Given the description of an element on the screen output the (x, y) to click on. 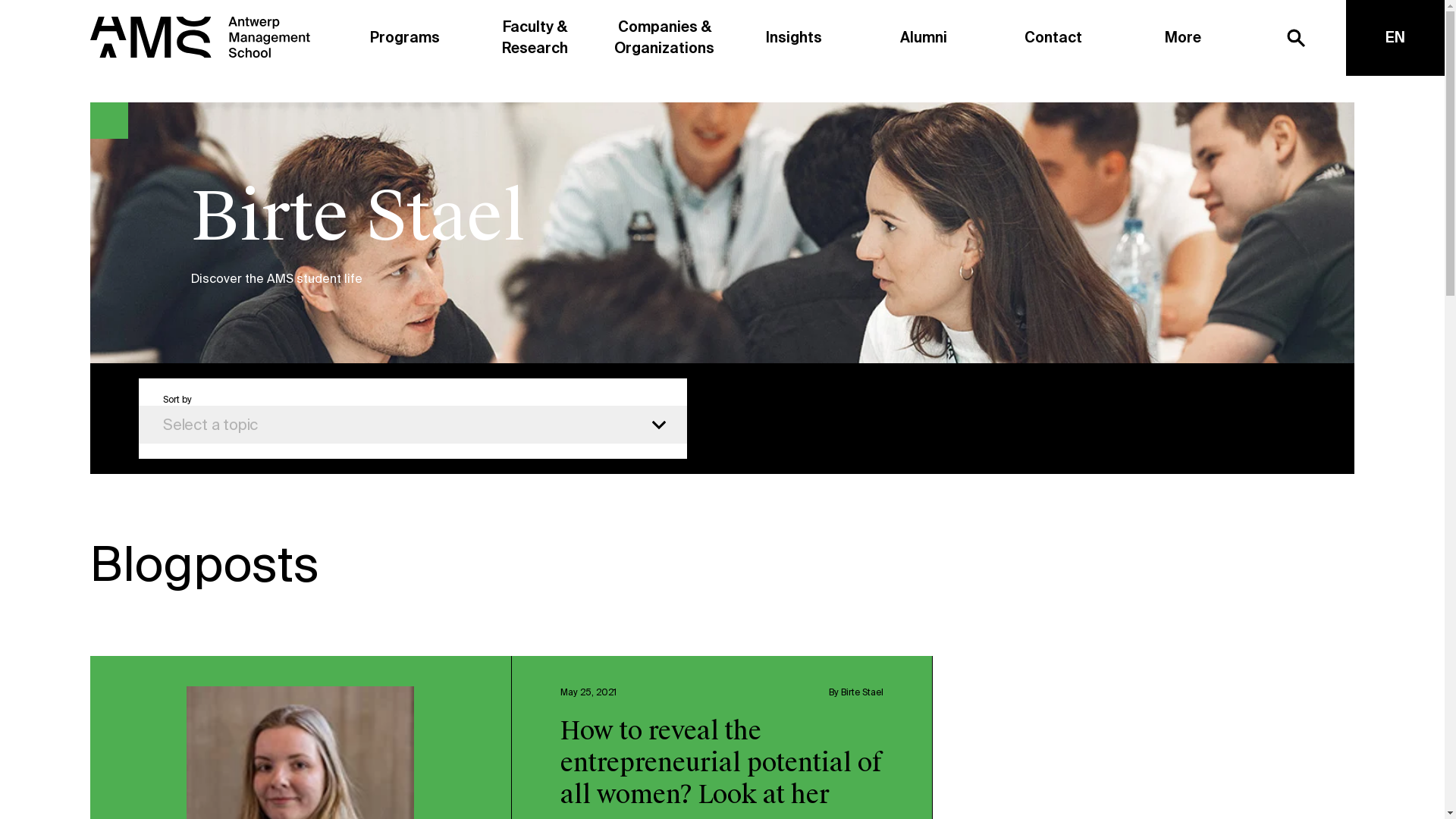
Insights Element type: text (794, 37)
More Element type: text (1182, 37)
Contact Element type: text (1052, 37)
Faculty & Research Element type: text (534, 37)
Birte Stael Element type: text (861, 692)
Alumni Element type: text (923, 37)
Companies & Organizations Element type: text (664, 37)
Programs Element type: text (405, 37)
